Given the description of an element on the screen output the (x, y) to click on. 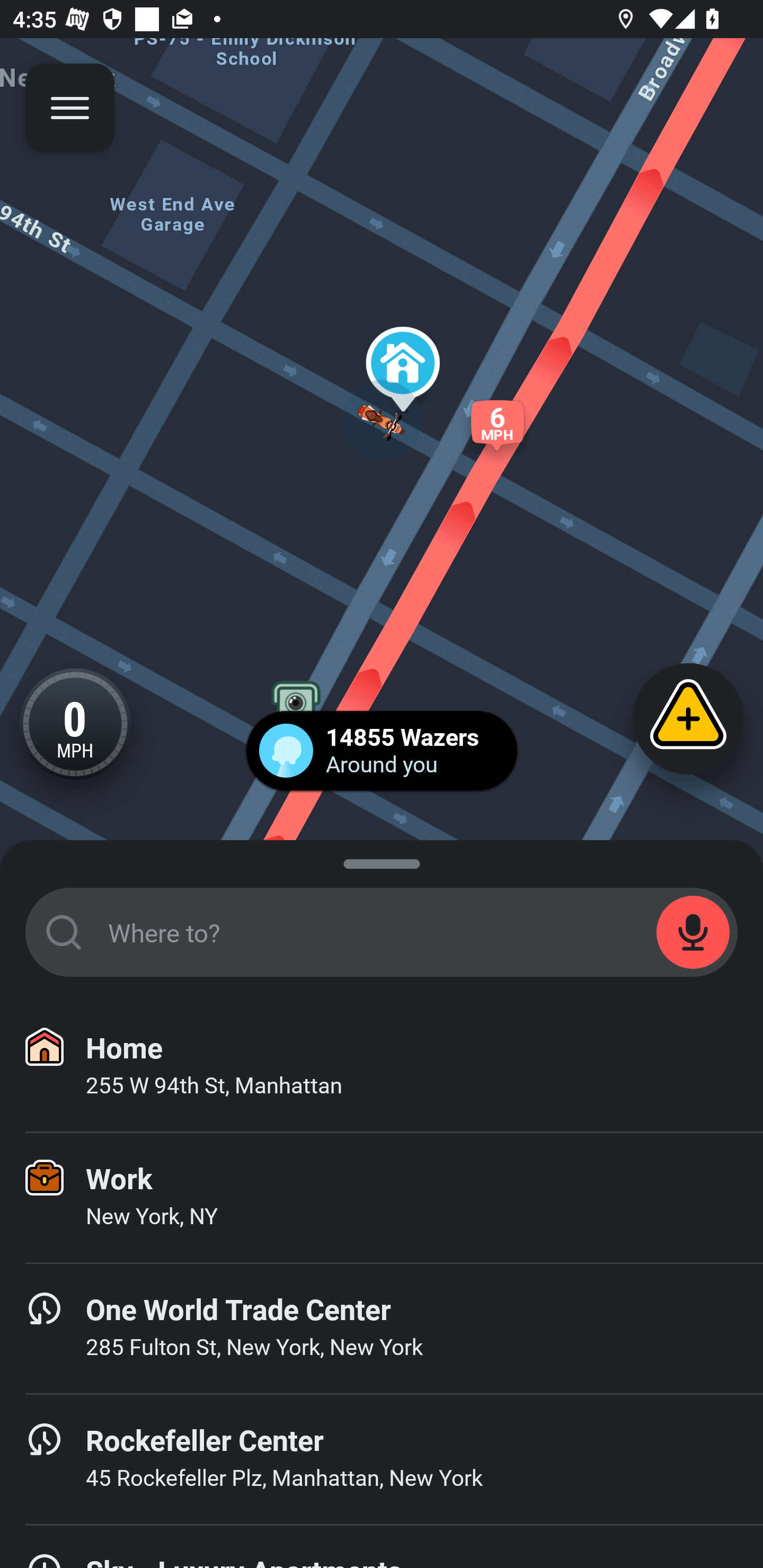
SUGGESTIONS_SHEET_DRAG_HANDLE (381, 860)
START_STATE_SEARCH_FIELD Where to? (381, 931)
Home 255 W 94th St, Manhattan (381, 1066)
Work New York, NY (381, 1197)
